Given the description of an element on the screen output the (x, y) to click on. 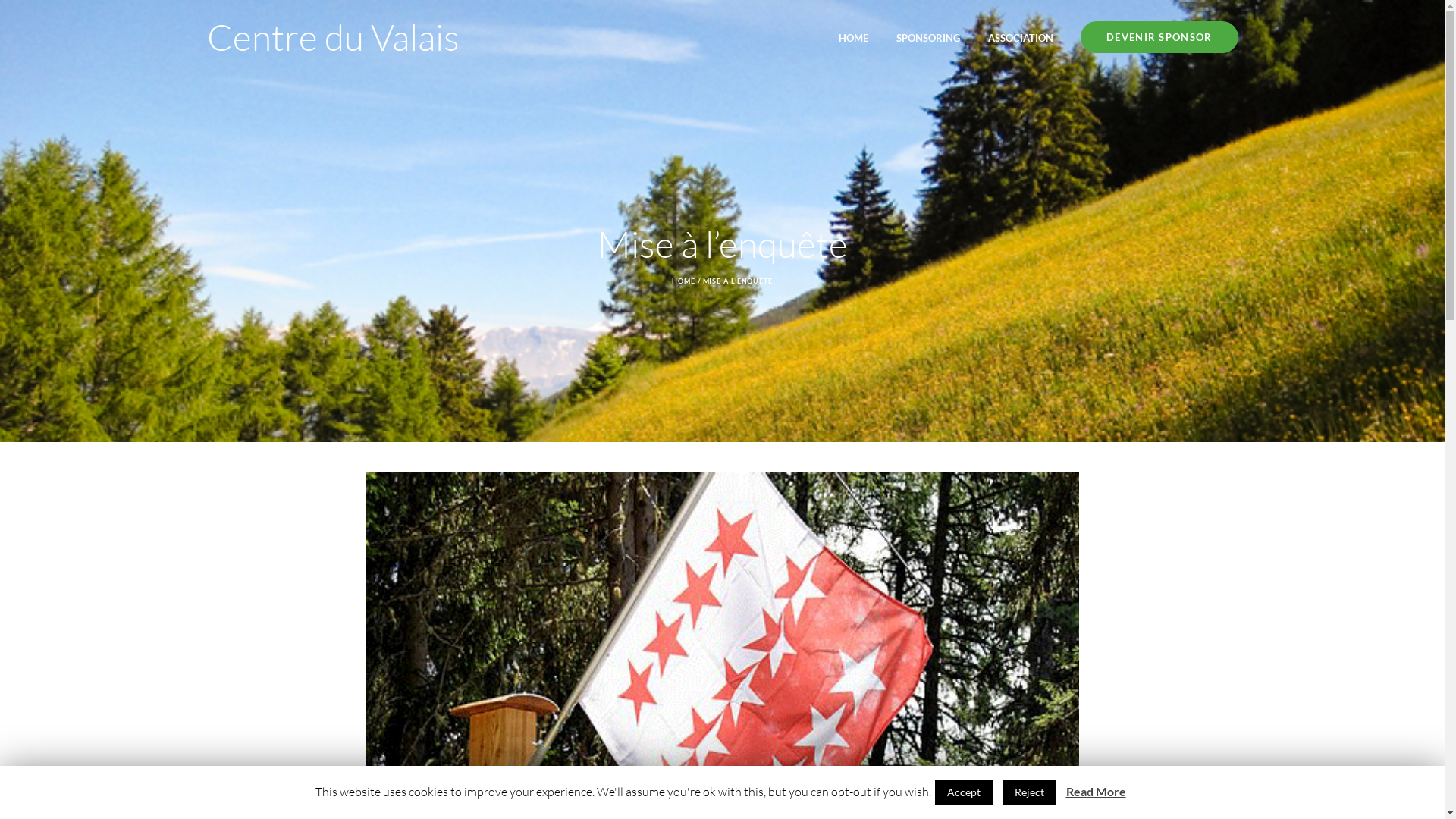
SPONSORING Element type: text (927, 37)
Read More Element type: text (1096, 791)
Reject Element type: text (1029, 792)
DEVENIR SPONSOR Element type: text (1159, 37)
ASSOCIATION Element type: text (1020, 37)
HOME Element type: text (853, 37)
HOME Element type: text (683, 280)
Centre du Valais Element type: text (332, 37)
Accept Element type: text (962, 792)
